Given the description of an element on the screen output the (x, y) to click on. 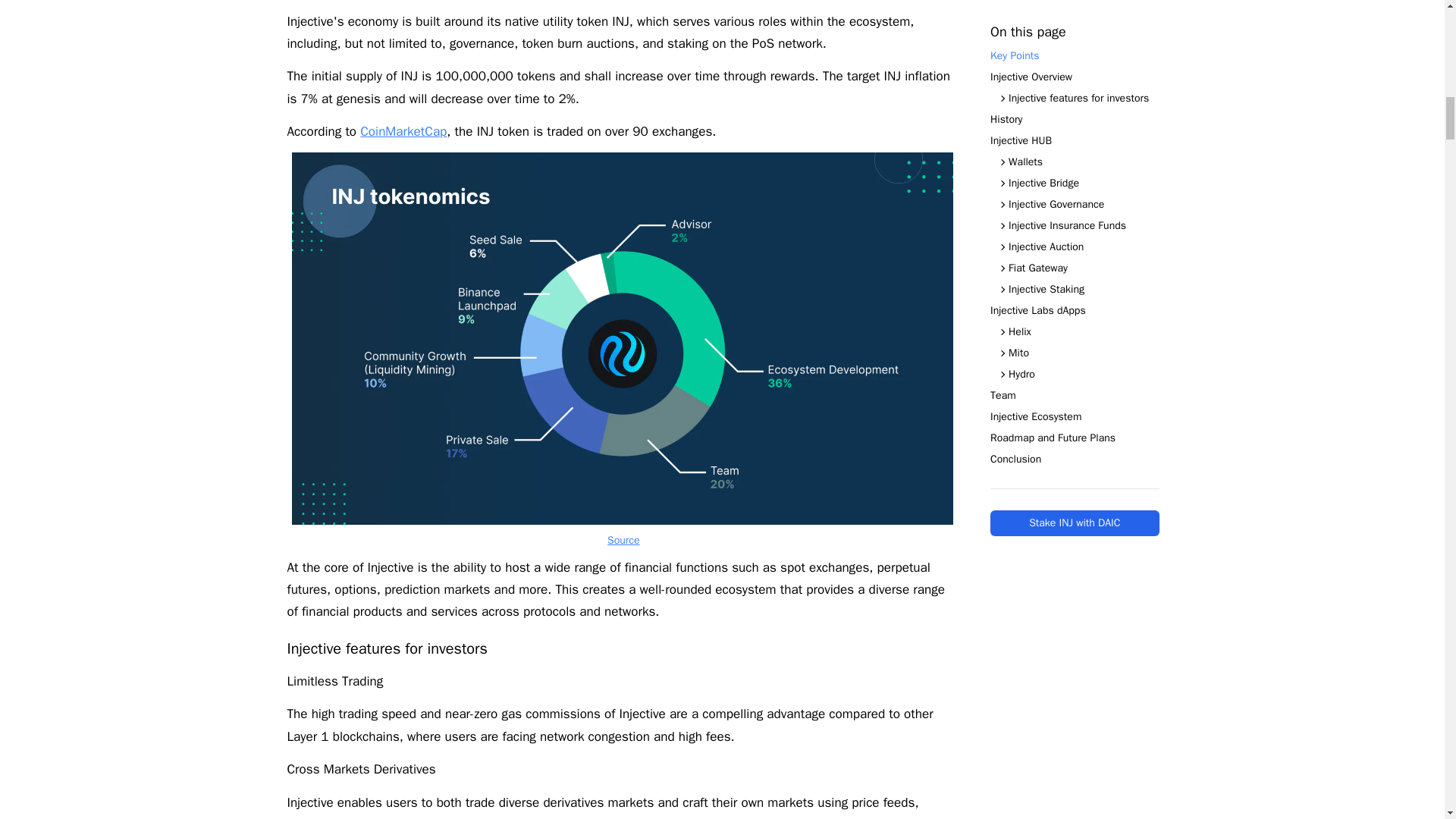
CoinMarketCap (402, 131)
Source (623, 540)
